Given the description of an element on the screen output the (x, y) to click on. 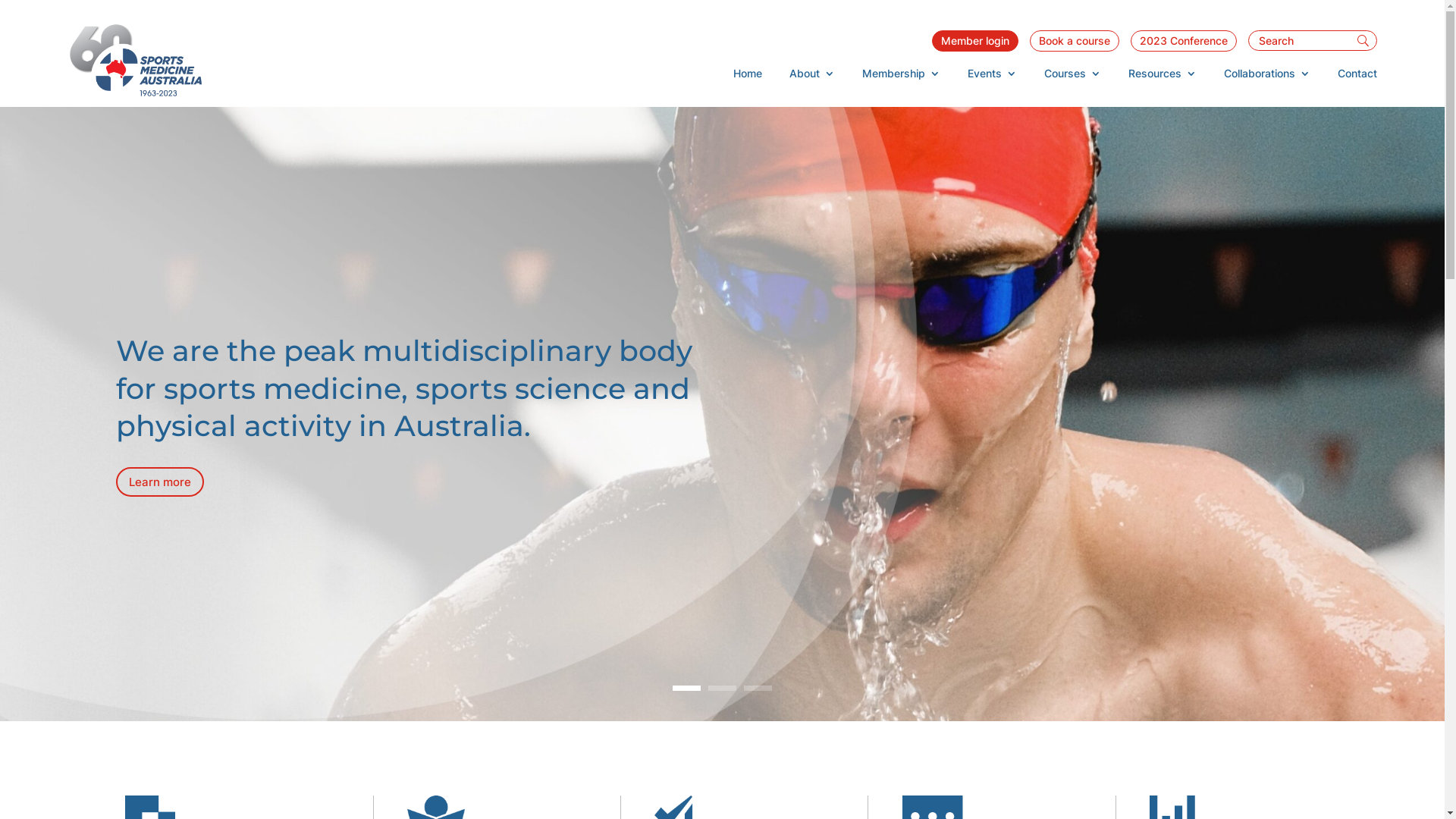
1 Element type: text (686, 687)
Membership Element type: text (901, 76)
2 Element type: text (722, 687)
Book a course Element type: text (1074, 40)
Search Element type: text (21, 12)
Home Element type: text (747, 76)
Learn more Element type: text (159, 481)
About Element type: text (811, 76)
Collaborations Element type: text (1266, 76)
Resources Element type: text (1162, 76)
Courses Element type: text (1072, 76)
2023 Conference Element type: text (1183, 40)
3 Element type: text (757, 687)
Events Element type: text (991, 76)
SMA 60th master Element type: hover (134, 60)
Member login Element type: text (974, 40)
Contact Element type: text (1357, 76)
